Given the description of an element on the screen output the (x, y) to click on. 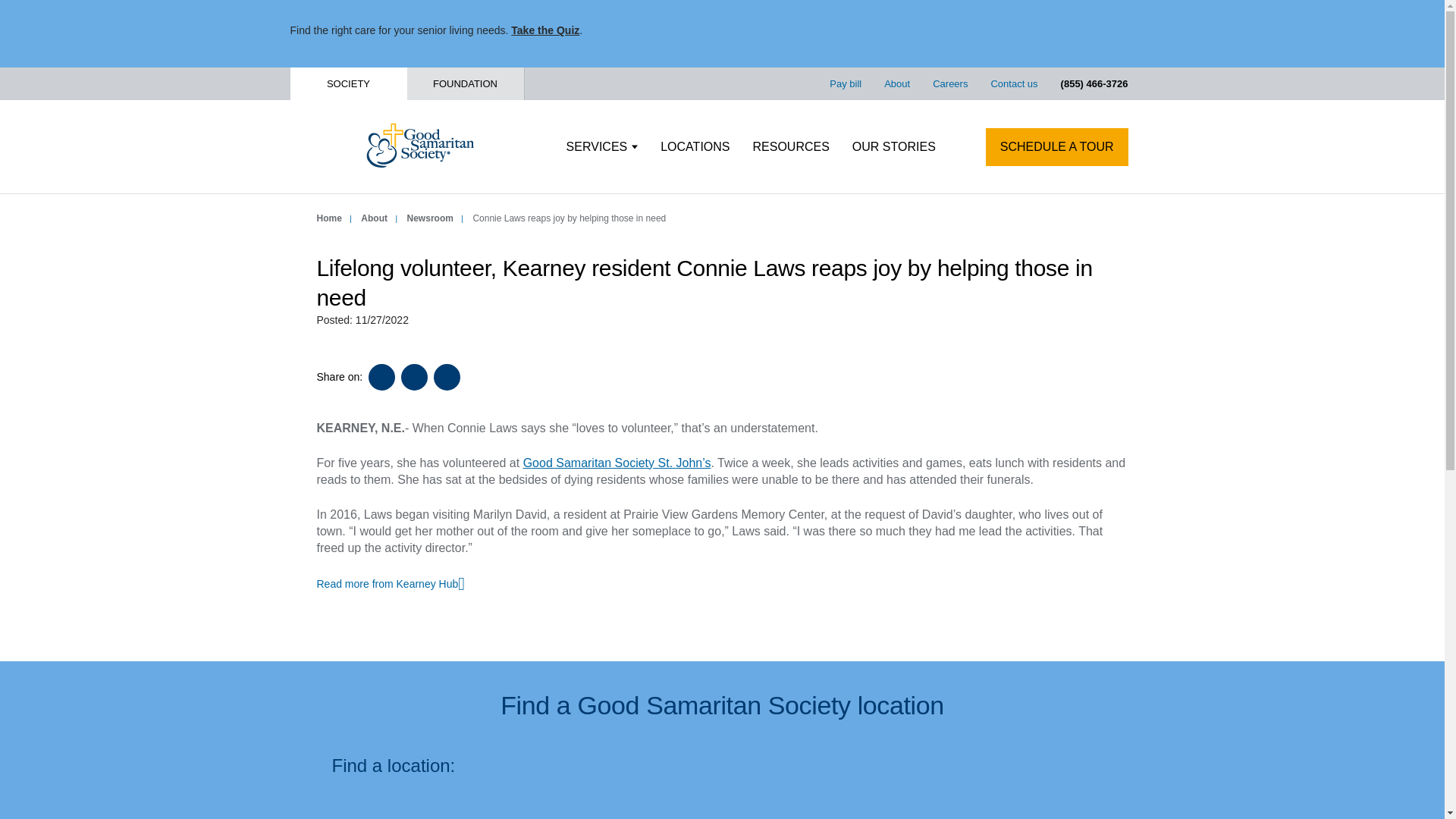
Home (329, 217)
SOCIETY (347, 83)
Newsroom (429, 217)
About (896, 83)
FOUNDATION (464, 83)
About (374, 217)
Facebook share (381, 376)
LOCATIONS (695, 146)
Newsroom (429, 217)
Linkedin share (446, 376)
